Given the description of an element on the screen output the (x, y) to click on. 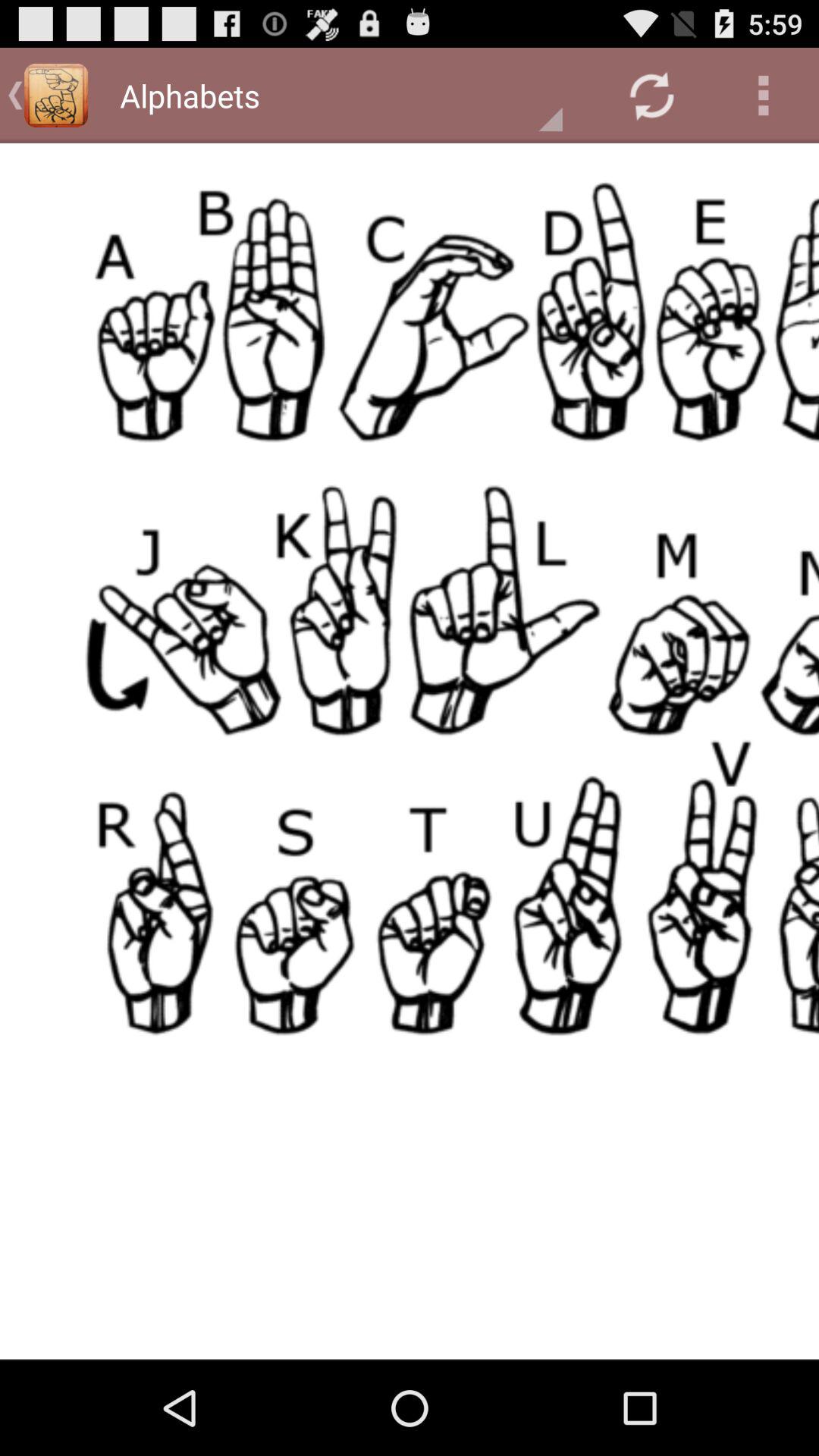
opens up page (409, 751)
